Given the description of an element on the screen output the (x, y) to click on. 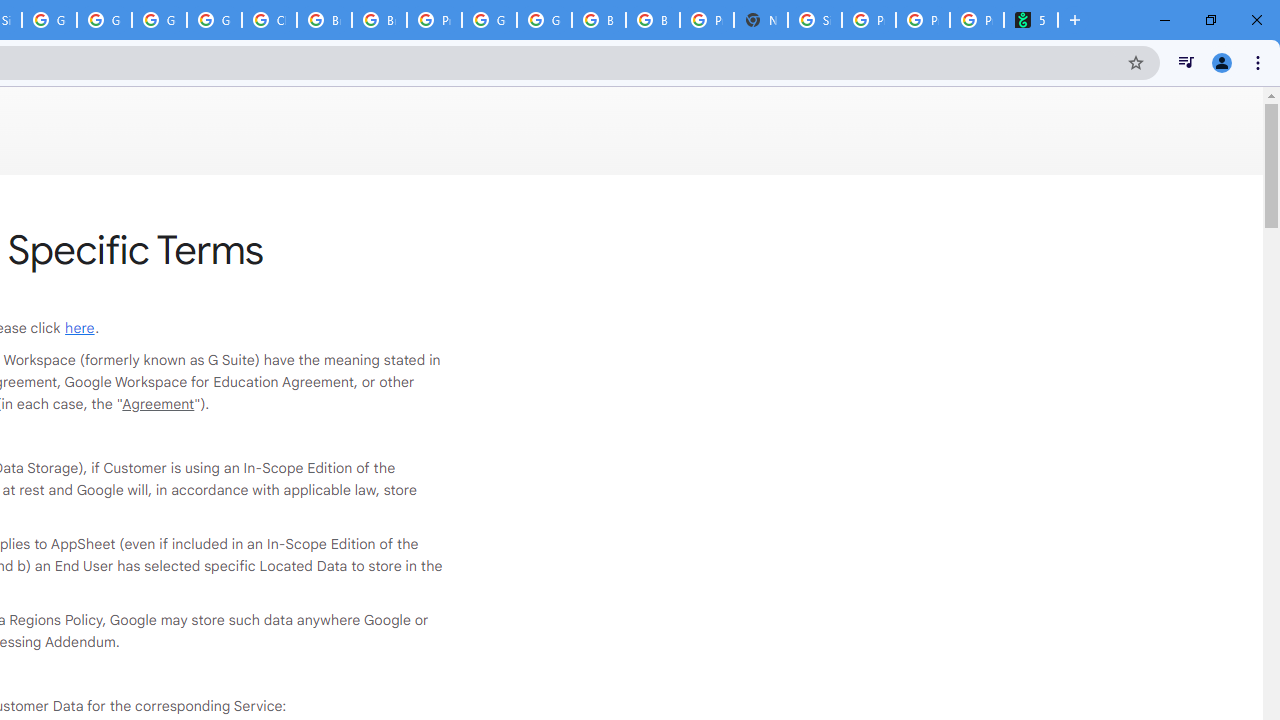
here (79, 327)
Sign in - Google Accounts (815, 20)
Browse Chrome as a guest - Computer - Google Chrome Help (324, 20)
Google Cloud Platform (489, 20)
Google Cloud Platform (158, 20)
Browse Chrome as a guest - Computer - Google Chrome Help (598, 20)
